Given the description of an element on the screen output the (x, y) to click on. 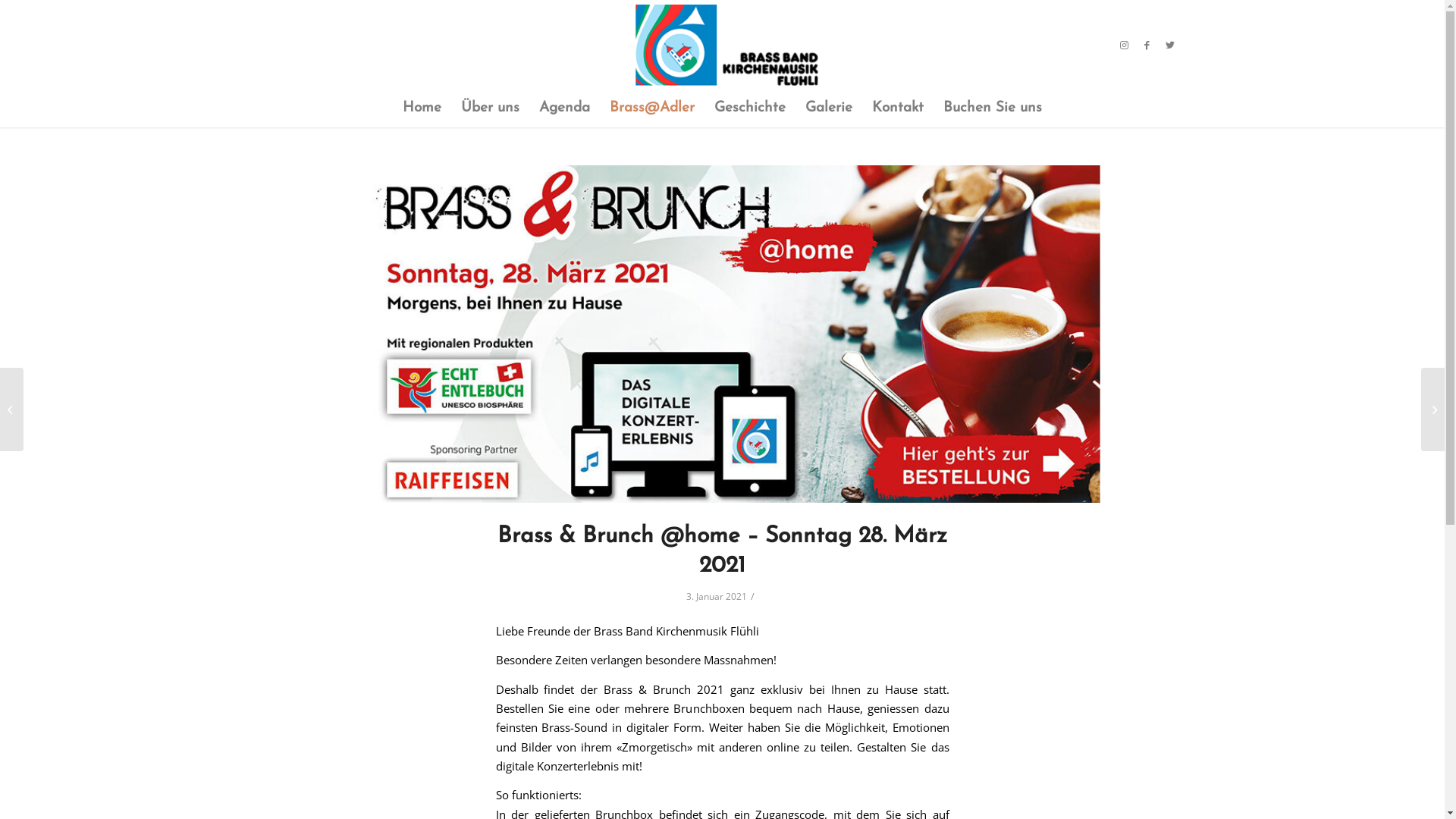
Brass@Adler Element type: text (651, 108)
Galerie Element type: text (828, 108)
Kontakt Element type: text (897, 108)
Agenda Element type: text (564, 108)
Twitter Element type: hover (1169, 44)
Facebook Element type: hover (1146, 44)
Home Element type: text (421, 108)
urcnh21header Element type: hover (722, 333)
Geschichte Element type: text (749, 108)
Instagram Element type: hover (1124, 44)
Buchen Sie uns Element type: text (992, 108)
